Given the description of an element on the screen output the (x, y) to click on. 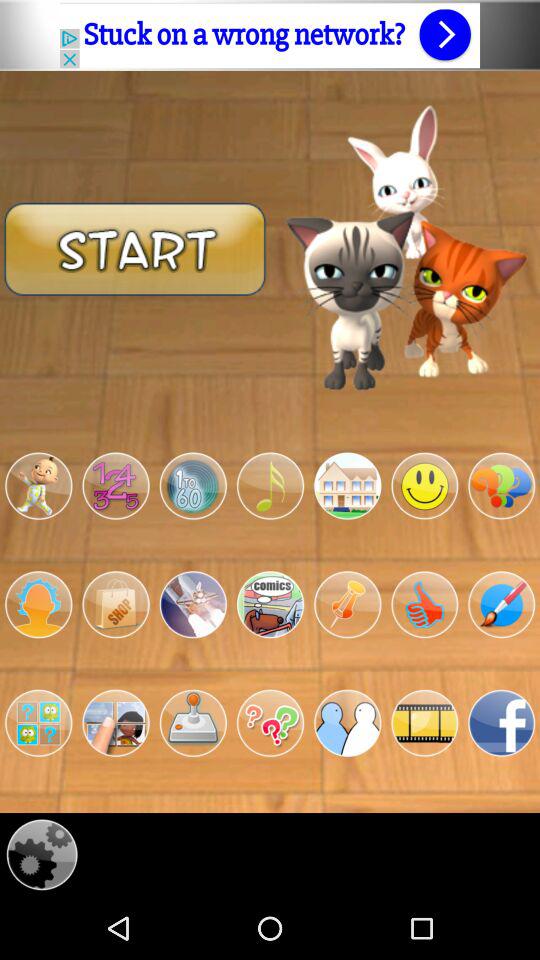
access settings (41, 854)
